Given the description of an element on the screen output the (x, y) to click on. 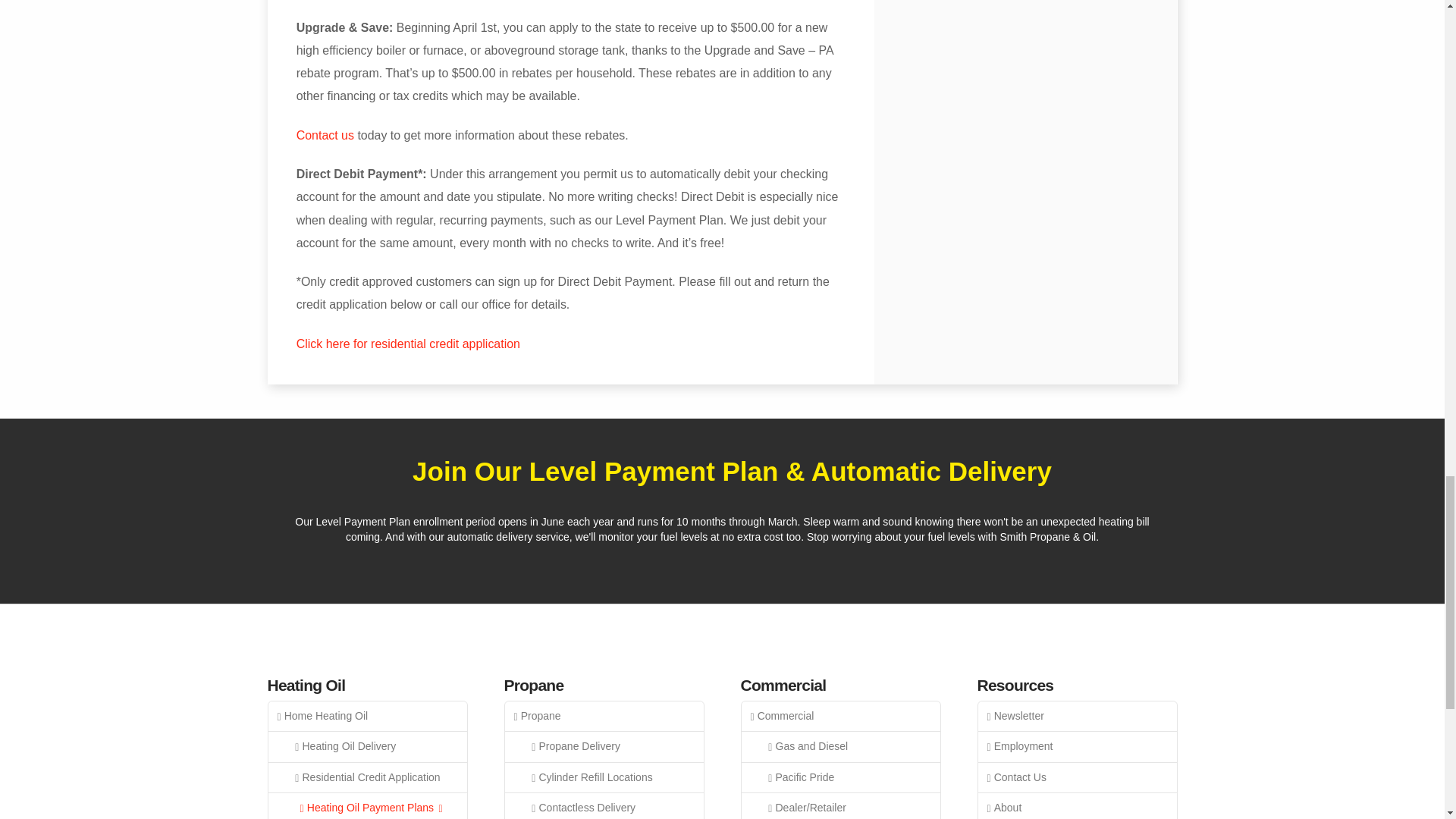
Home Heating Oil (367, 716)
Contact us (325, 134)
Click here for residential credit application (408, 343)
